Given the description of an element on the screen output the (x, y) to click on. 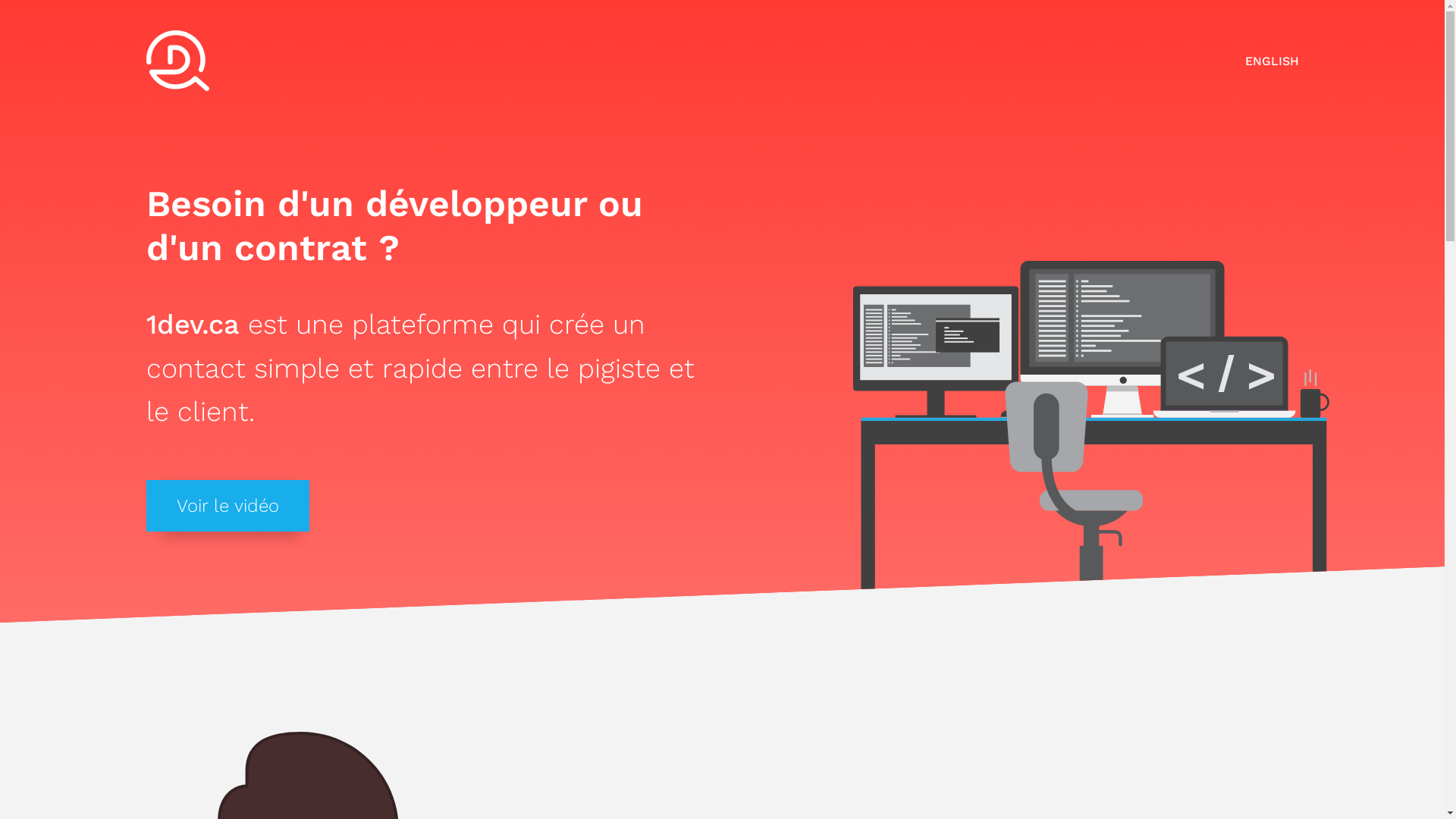
ENGLISH Element type: text (1272, 60)
